Given the description of an element on the screen output the (x, y) to click on. 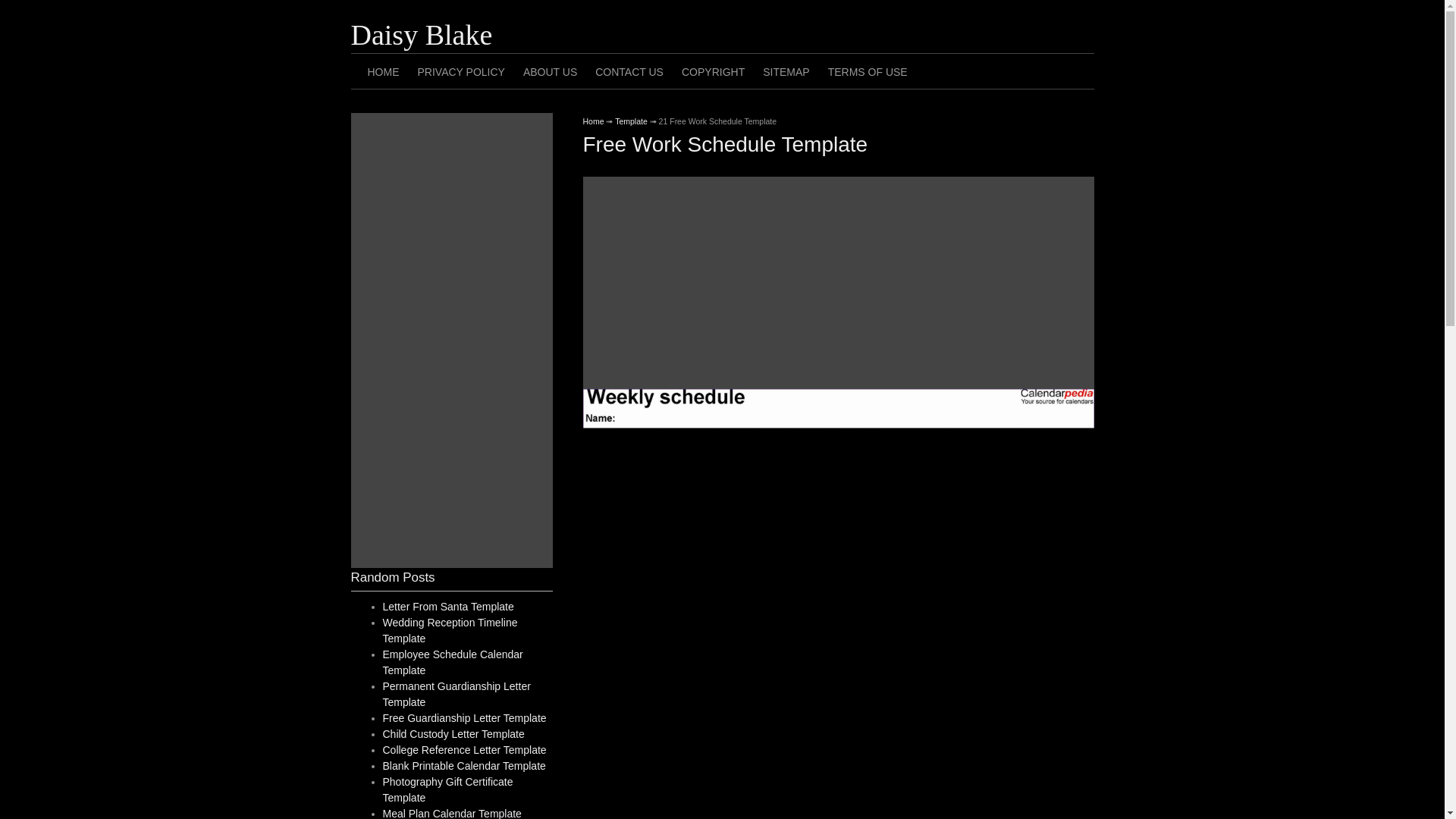
Template (630, 121)
Daisy Blake (421, 34)
CONTACT US (629, 71)
SITEMAP (786, 71)
TERMS OF USE (867, 71)
HOME (382, 71)
COPYRIGHT (713, 71)
Advertisement (837, 282)
Home (593, 121)
